Given the description of an element on the screen output the (x, y) to click on. 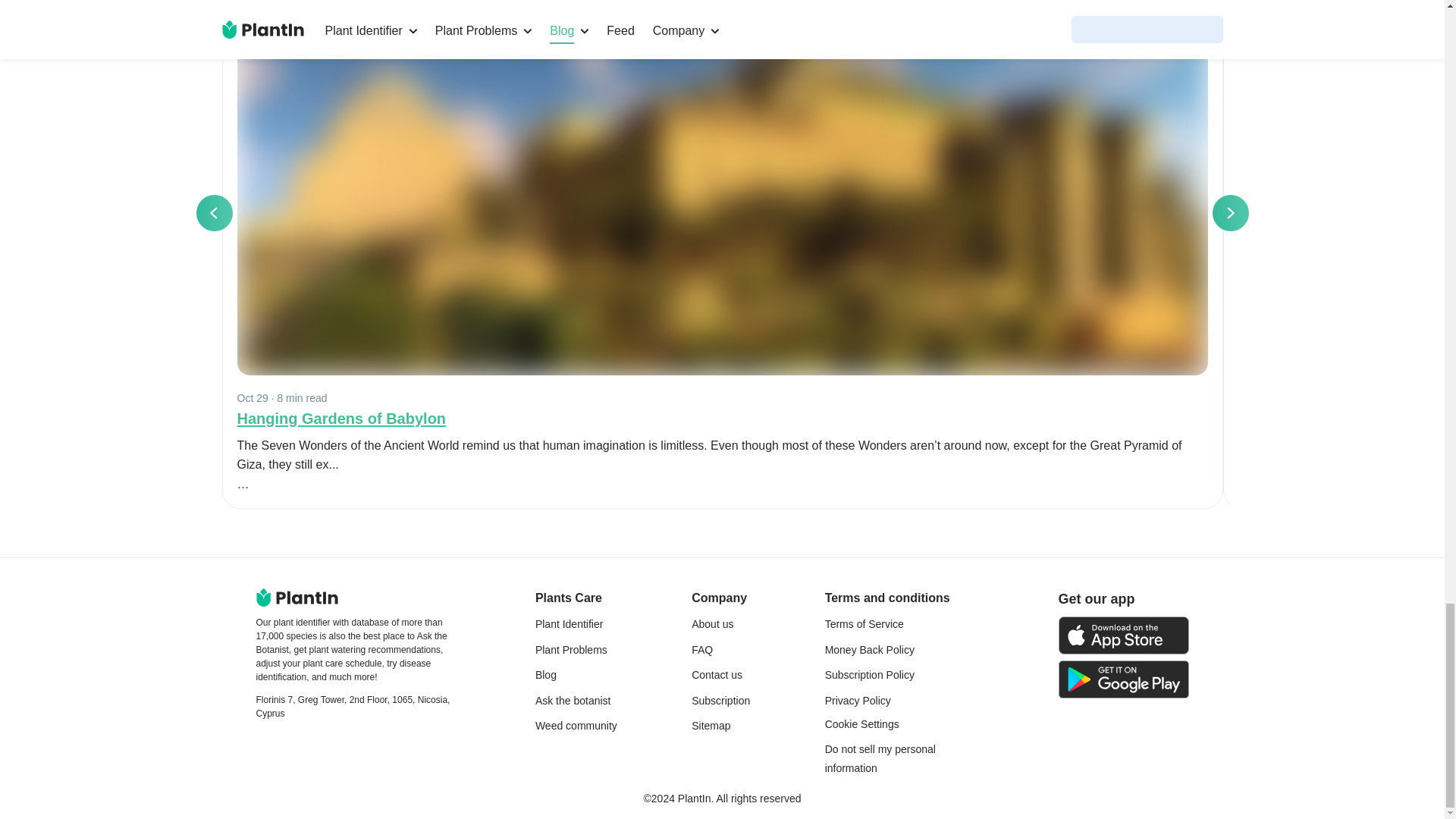
Hanging Gardens of Babylon (721, 418)
